Given the description of an element on the screen output the (x, y) to click on. 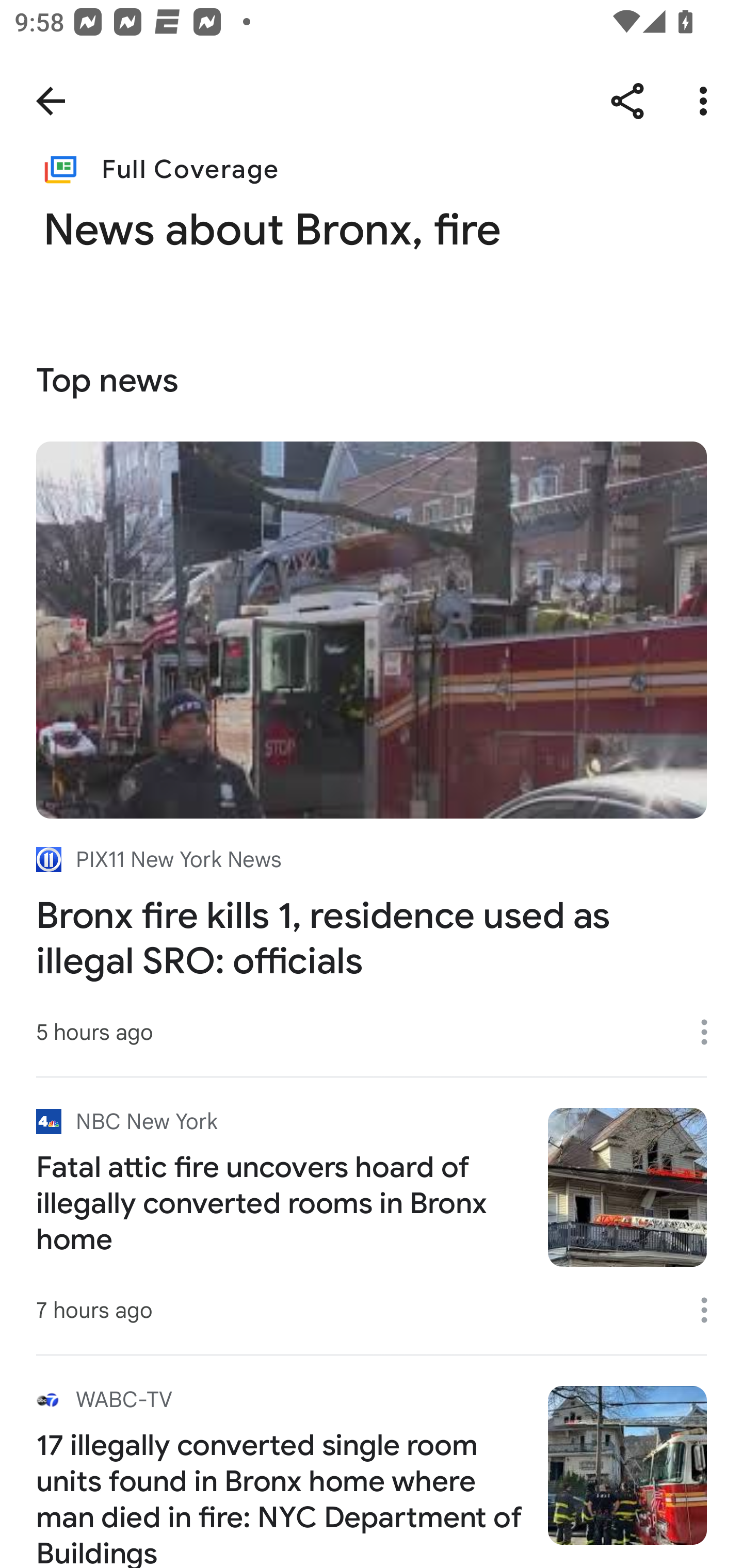
Navigate up (50, 101)
Share (626, 101)
More options (706, 101)
More options (711, 1032)
More options (711, 1309)
